Given the description of an element on the screen output the (x, y) to click on. 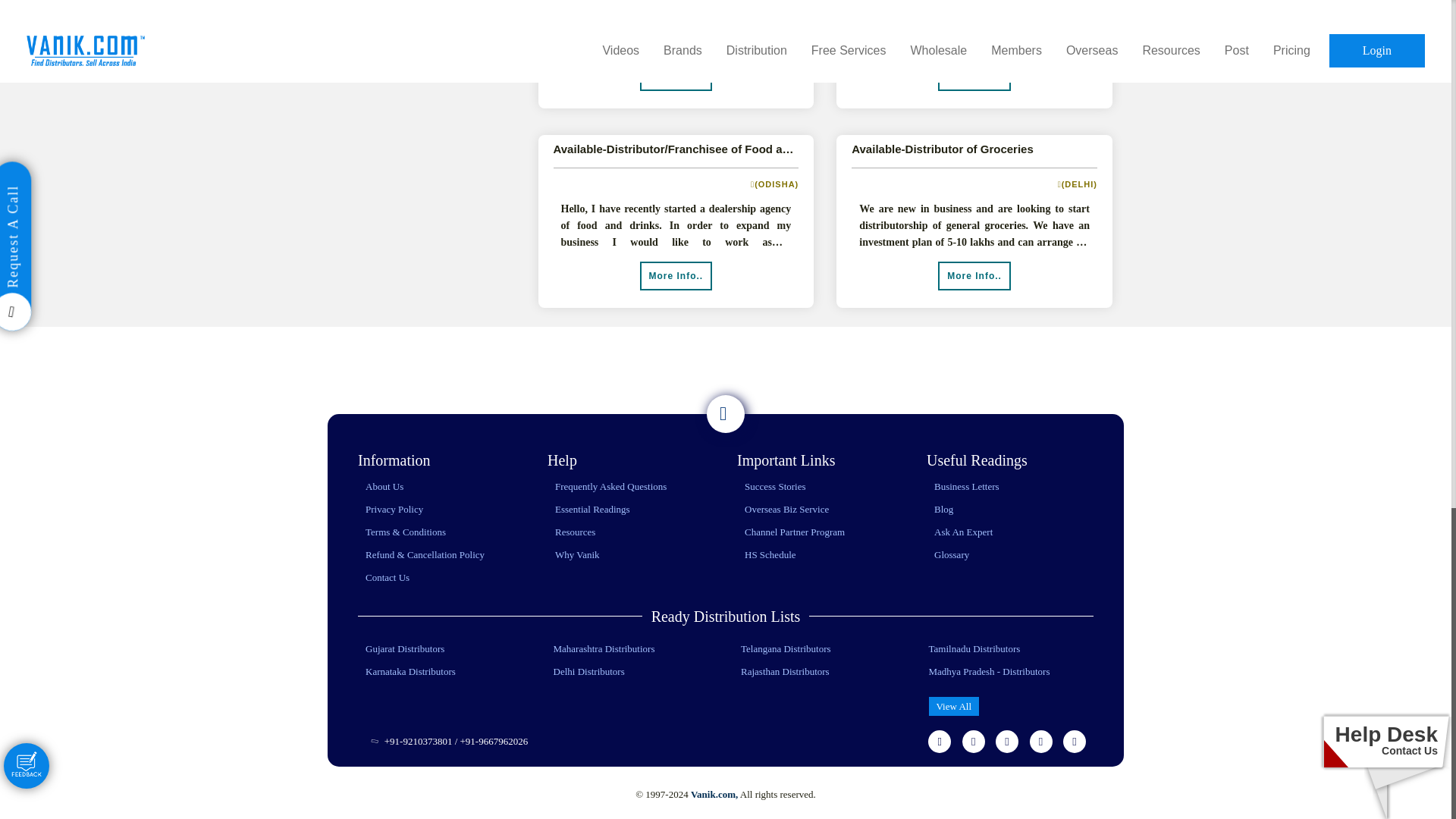
About Us (384, 486)
